Given the description of an element on the screen output the (x, y) to click on. 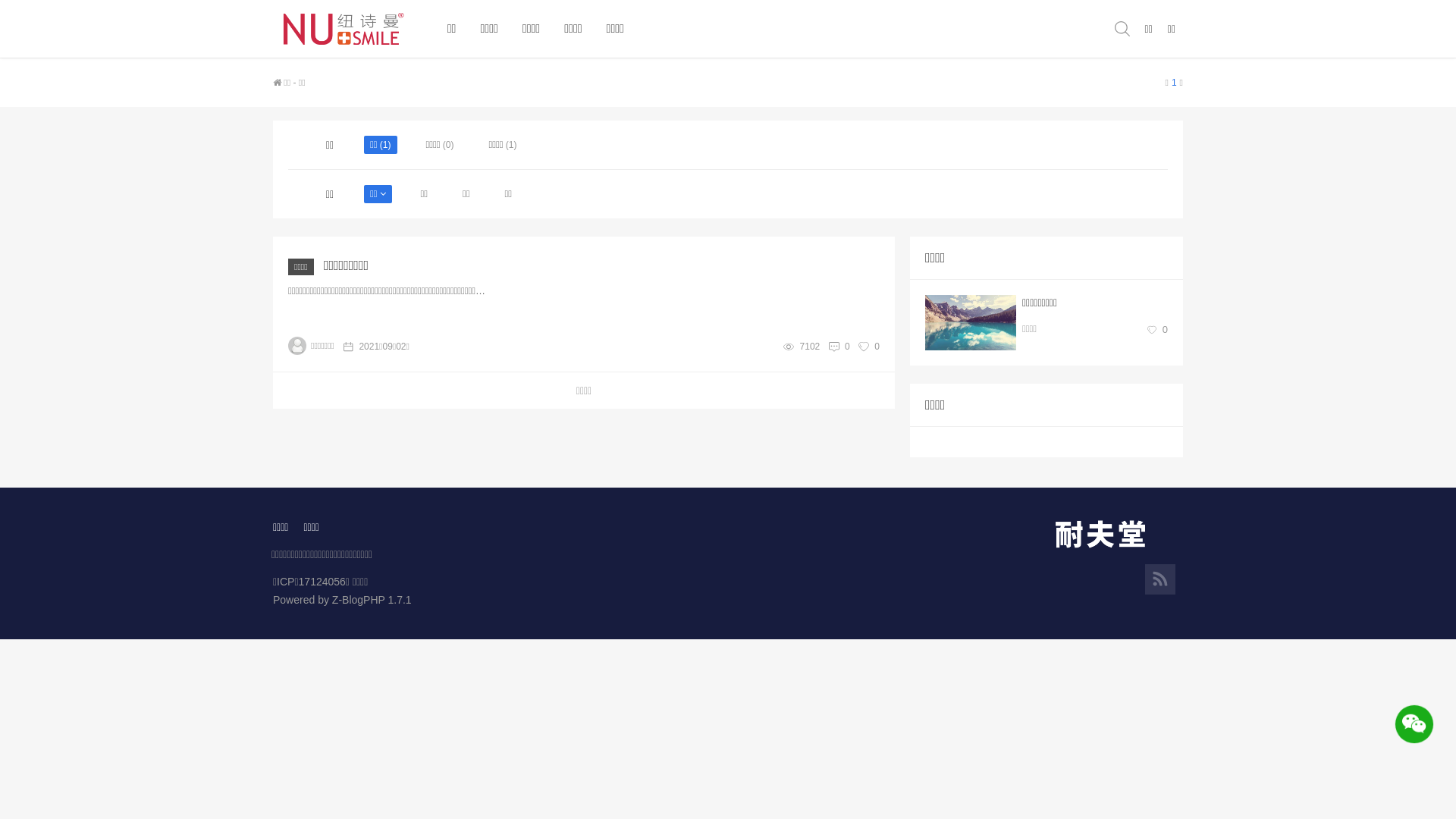
Z-BlogPHP 1.7.1 Element type: text (371, 599)
0 Element type: text (847, 346)
